Given the description of an element on the screen output the (x, y) to click on. 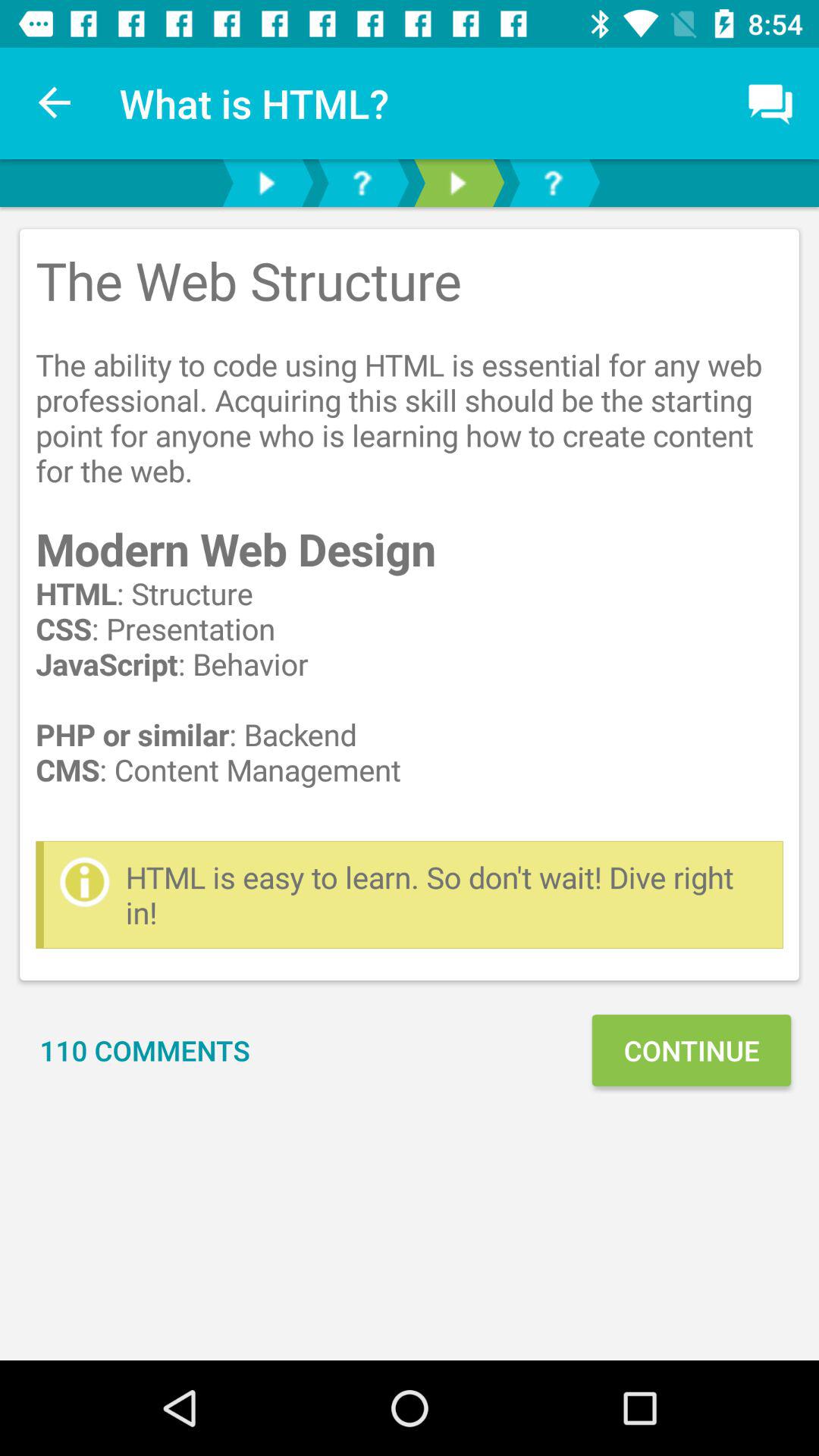
check faq (361, 183)
